Given the description of an element on the screen output the (x, y) to click on. 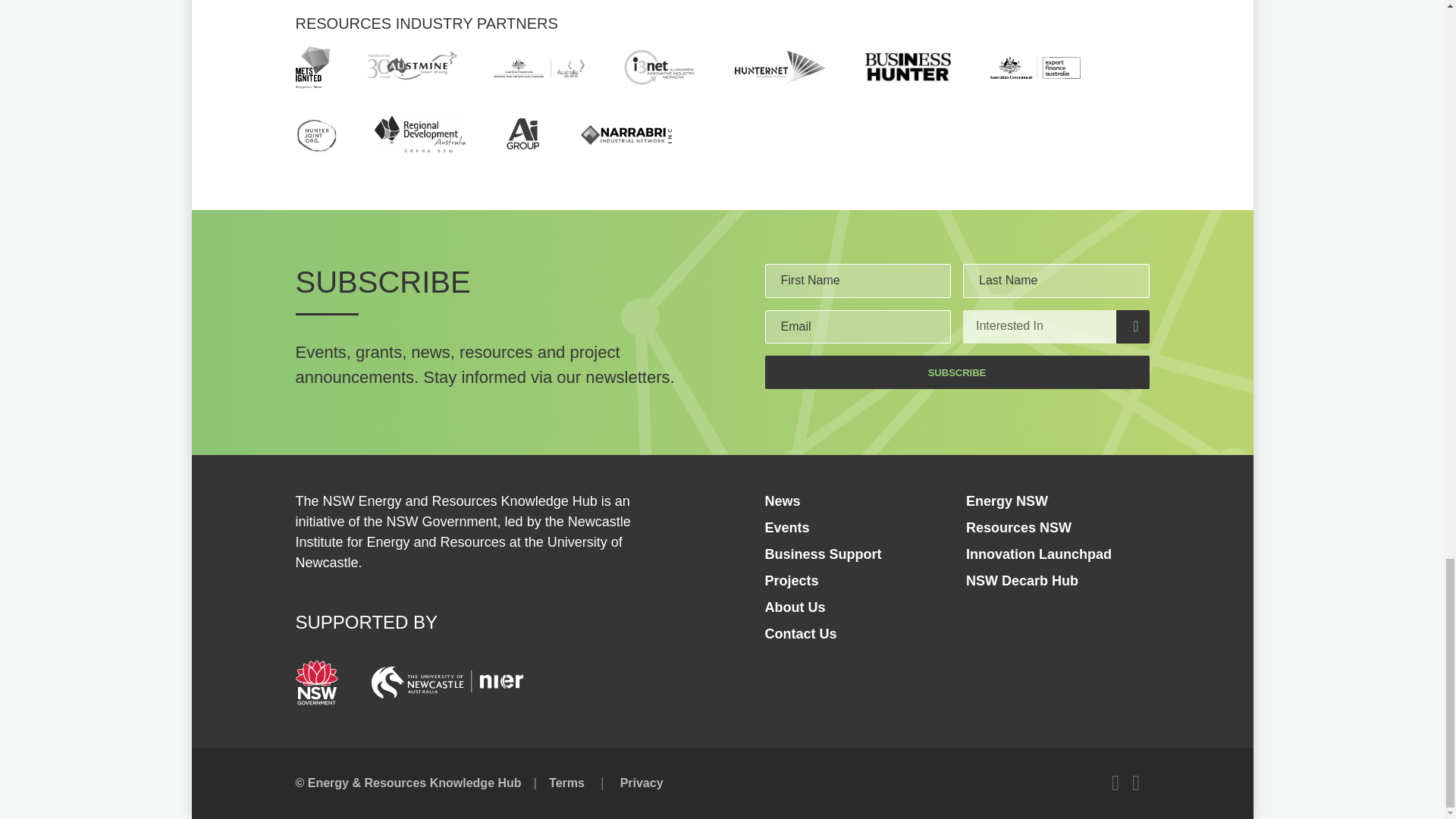
RDA Orana (419, 134)
Business Support (822, 554)
Hunter Joint Organisation (316, 134)
Austrade (539, 67)
The University of Newcastle in partnership with Nier (446, 682)
Resources NSW (1018, 527)
NSW Government (316, 682)
Subscribe (956, 372)
Events (786, 527)
Export Finance Australia (1035, 66)
Subscribe (956, 372)
Business Hunter (907, 67)
i3net (659, 66)
Energy NSW (1007, 500)
Hunternet (780, 67)
